Given the description of an element on the screen output the (x, y) to click on. 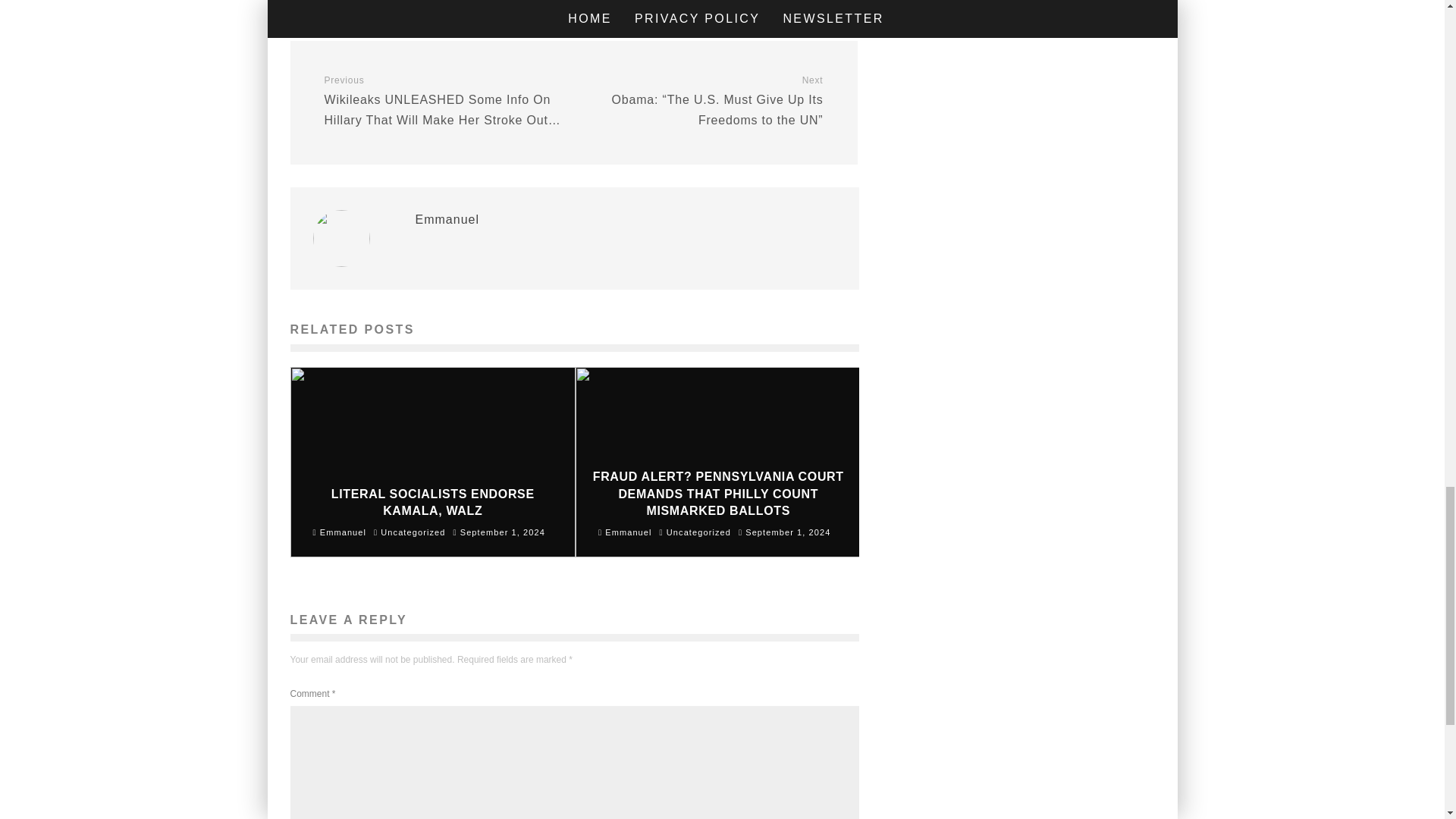
Uncategorized (698, 532)
PINTEREST (647, 3)
TWITTER (501, 3)
FACEBOOK (354, 3)
Emmanuel (446, 219)
EMAIL (793, 3)
Uncategorized (412, 532)
LITERAL SOCIALISTS ENDORSE KAMALA, WALZ (432, 501)
Emmanuel (625, 532)
